Given the description of an element on the screen output the (x, y) to click on. 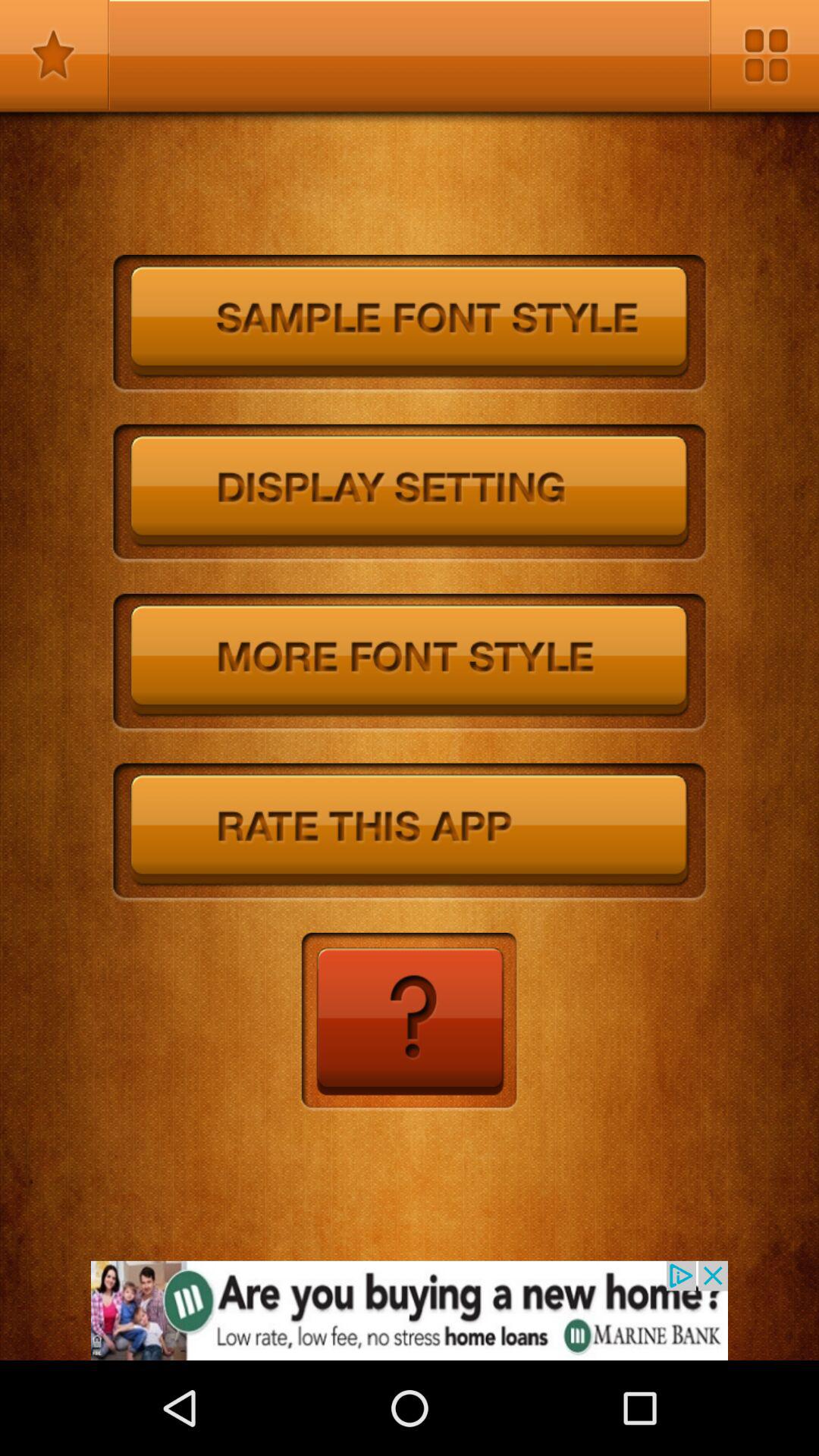
go to rate this app (409, 832)
